Given the description of an element on the screen output the (x, y) to click on. 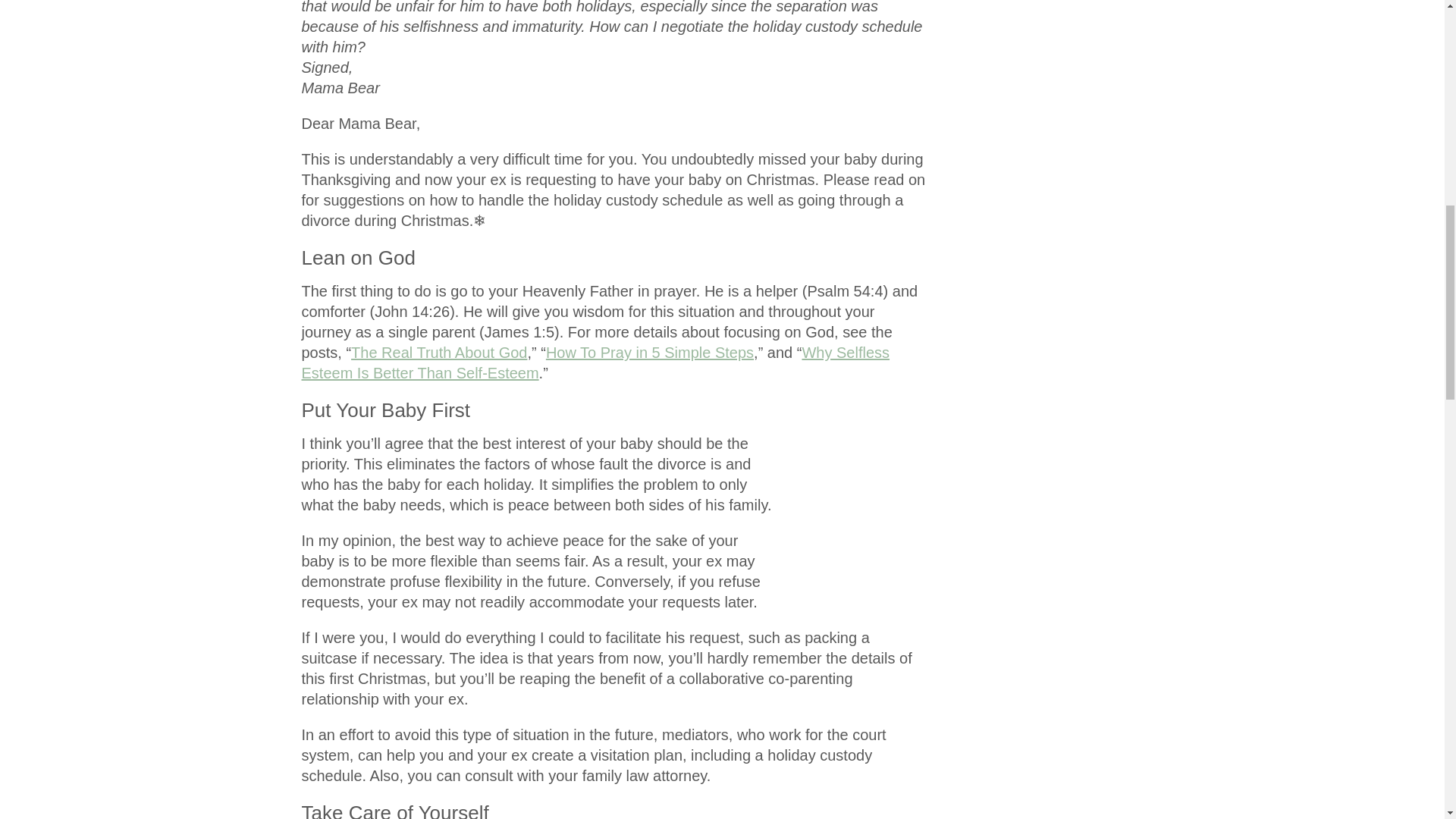
The Real Truth About God (438, 352)
Why Selfless Esteem Is Better Than Self-Esteem (595, 362)
How To Pray in 5 Simple Steps (650, 352)
